Given the description of an element on the screen output the (x, y) to click on. 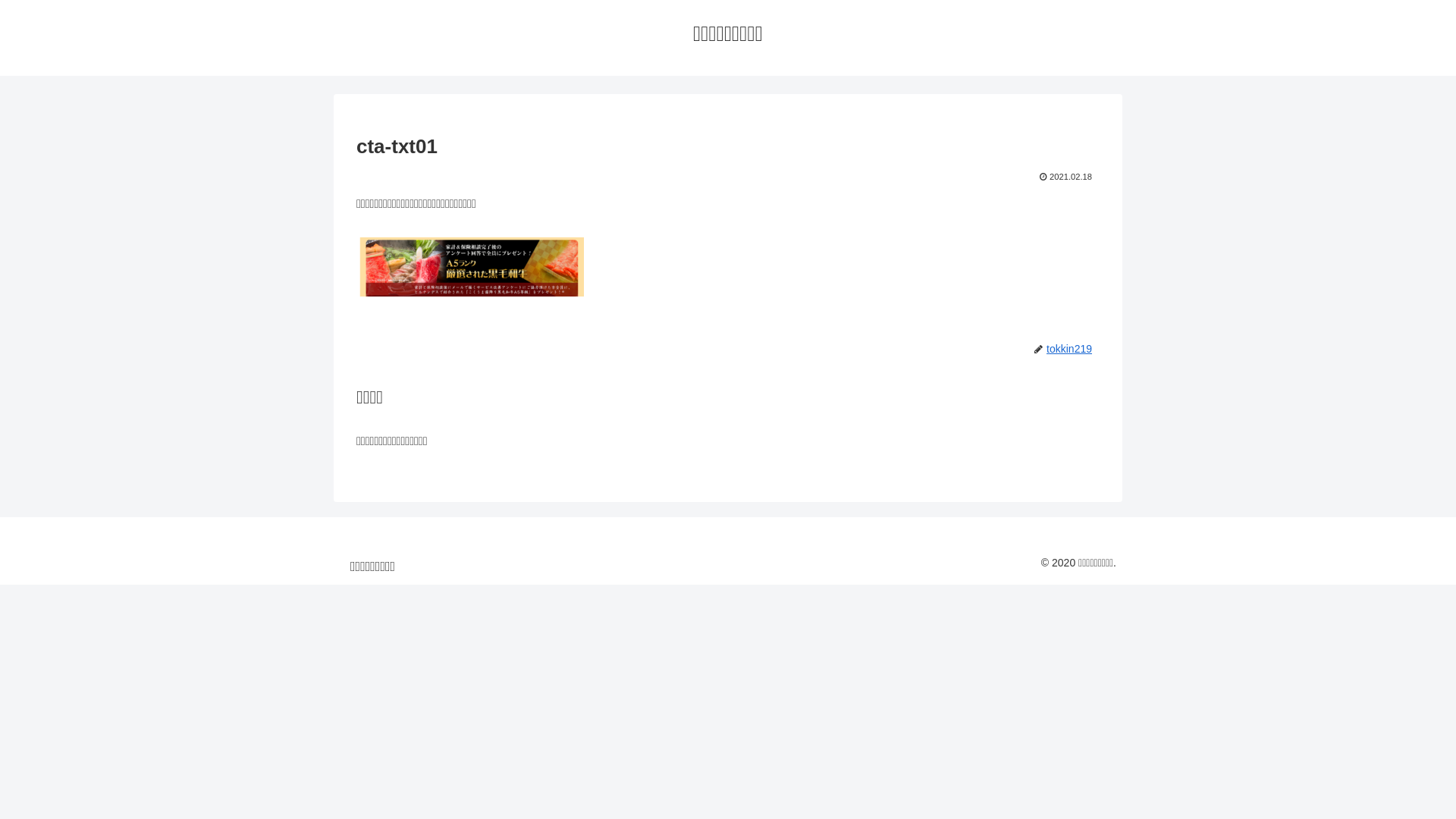
tokkin219 Element type: text (1071, 348)
